Given the description of an element on the screen output the (x, y) to click on. 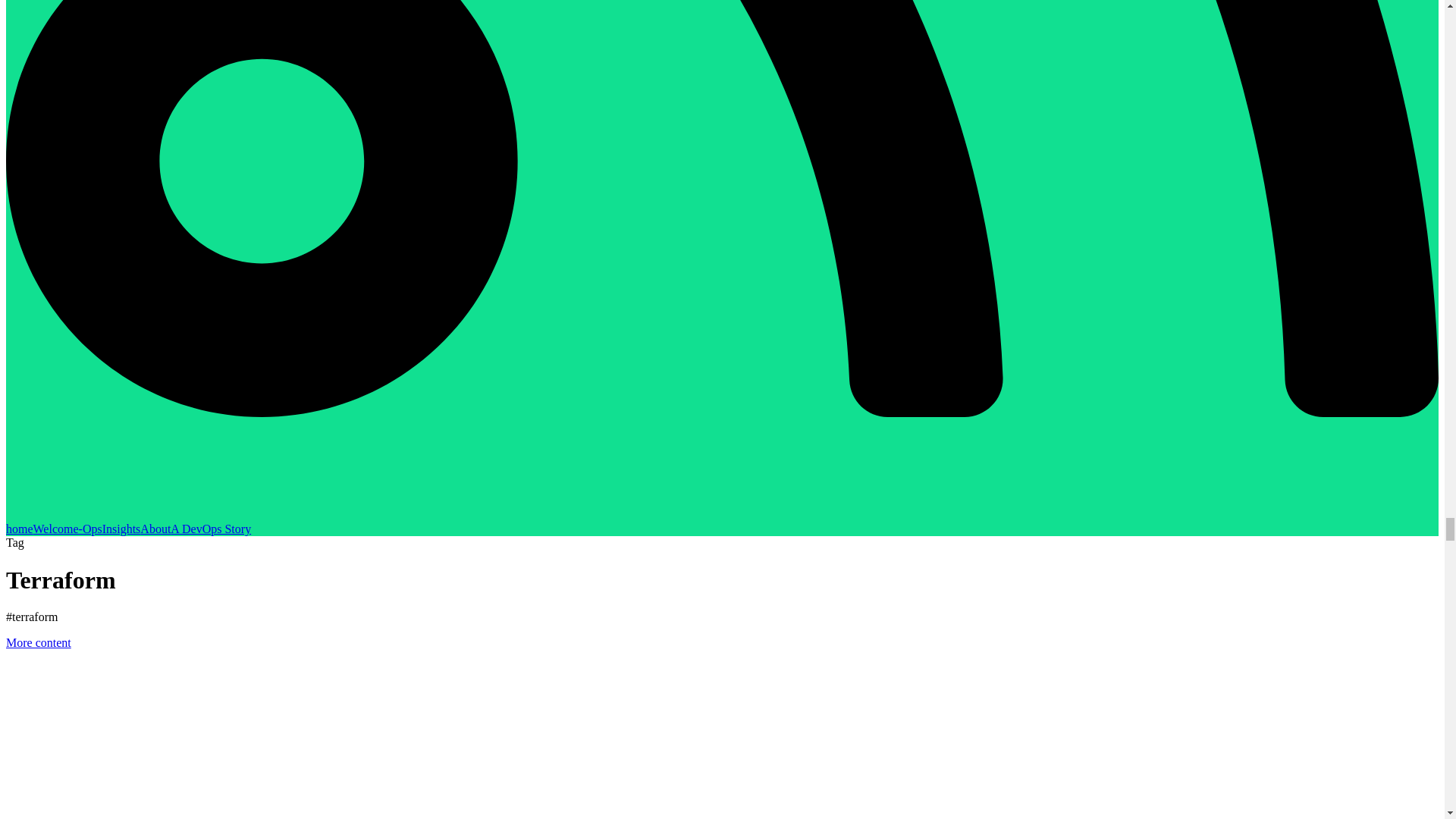
A DevOps Story (210, 528)
home (19, 528)
About (154, 528)
Welcome-OpsInsights (87, 528)
